Given the description of an element on the screen output the (x, y) to click on. 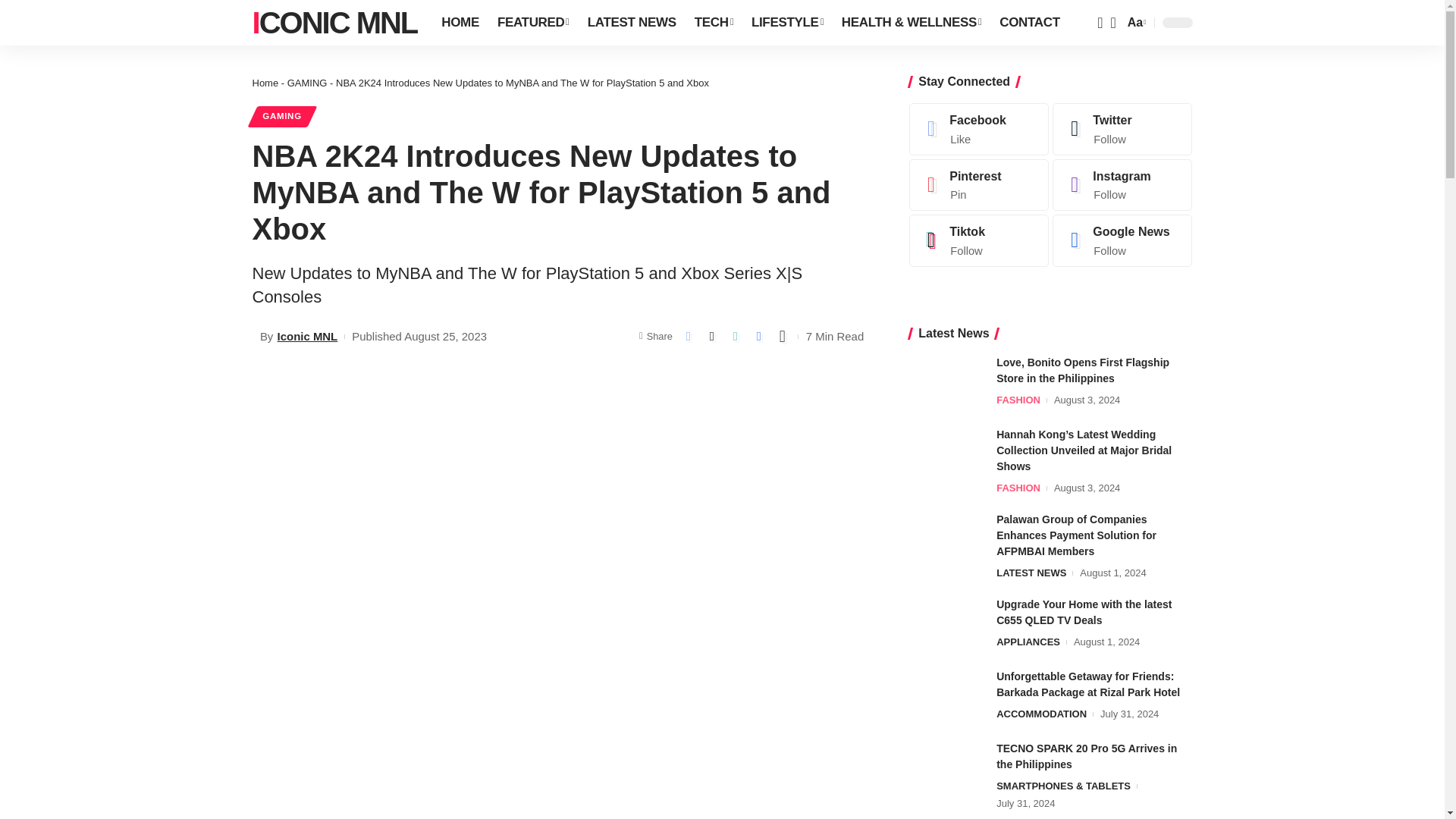
TECH (713, 22)
FEATURED (532, 22)
TECNO SPARK 20 Pro 5G Arrives in the Philippines (946, 769)
LATEST NEWS (631, 22)
Upgrade Your Home with the latest C655 QLED TV Deals (946, 625)
HOME (459, 22)
LIFESTYLE (787, 22)
ICONIC MNL (333, 22)
Iconic MNL (333, 22)
Love, Bonito Opens First Flagship Store in the Philippines (946, 382)
